Given the description of an element on the screen output the (x, y) to click on. 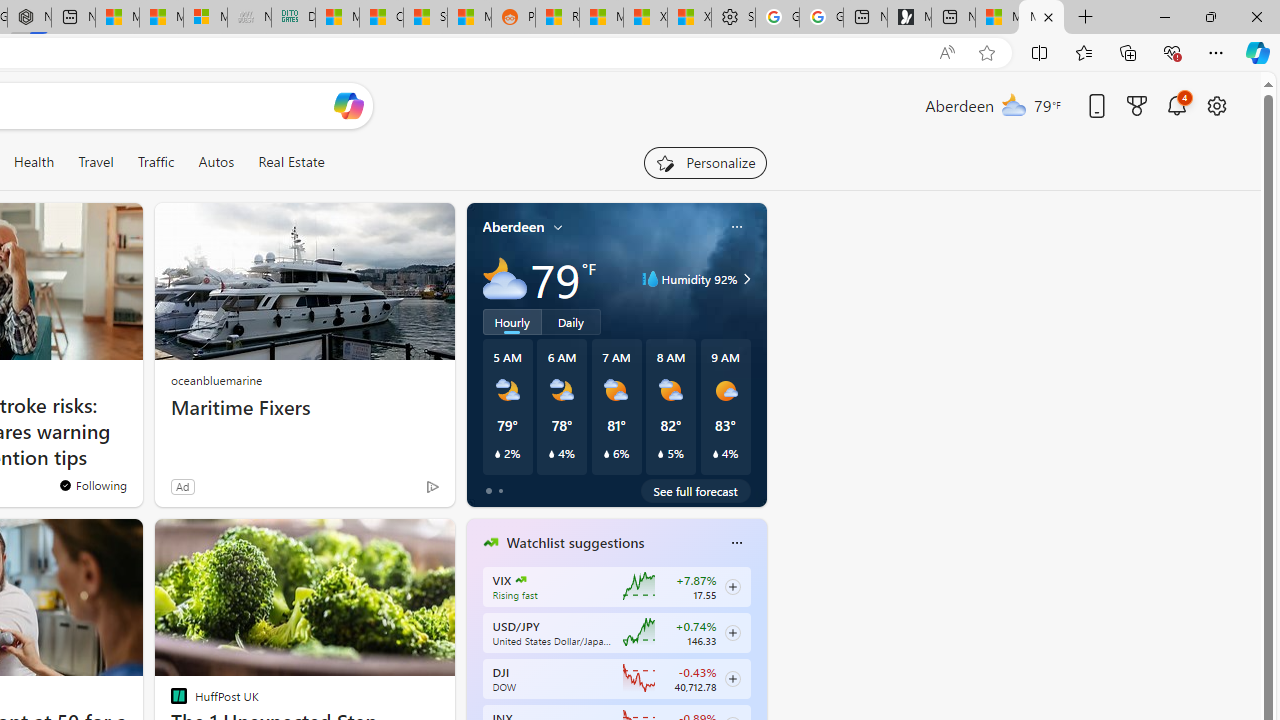
Mostly cloudy (504, 278)
Watchlist suggestions (575, 543)
Class: weather-current-precipitation-glyph (715, 453)
Personalize your feed" (704, 162)
